Given the description of an element on the screen output the (x, y) to click on. 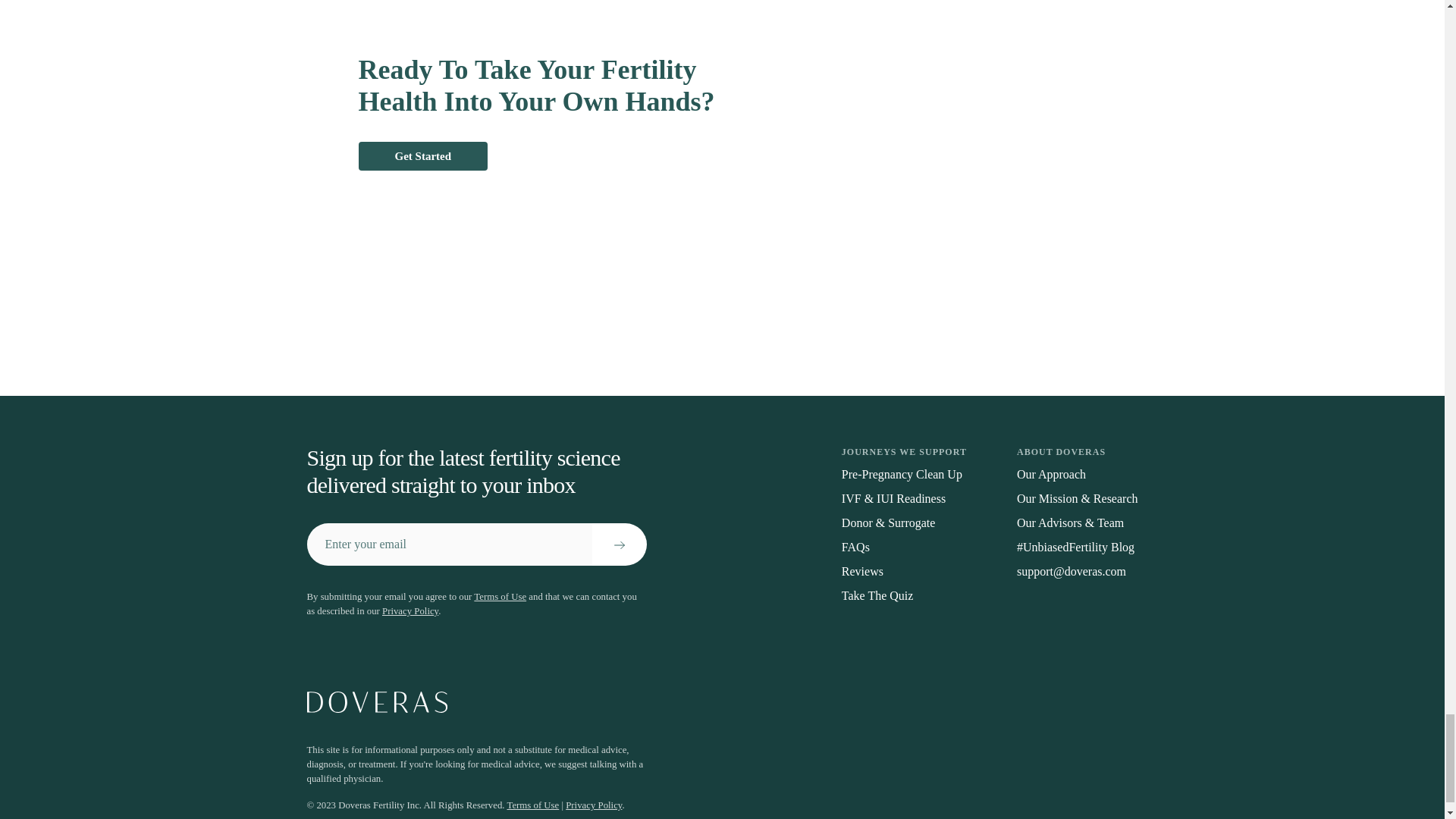
Get Started (422, 156)
Our Approach (1077, 475)
Pre-Pregnancy Clean Up (903, 475)
Terms of Use (499, 596)
Privacy Policy (409, 611)
Terms of Use (532, 805)
FAQs (903, 547)
Doveras (721, 701)
Reviews (903, 571)
Take The Quiz (903, 596)
Privacy Policy (593, 805)
